Given the description of an element on the screen output the (x, y) to click on. 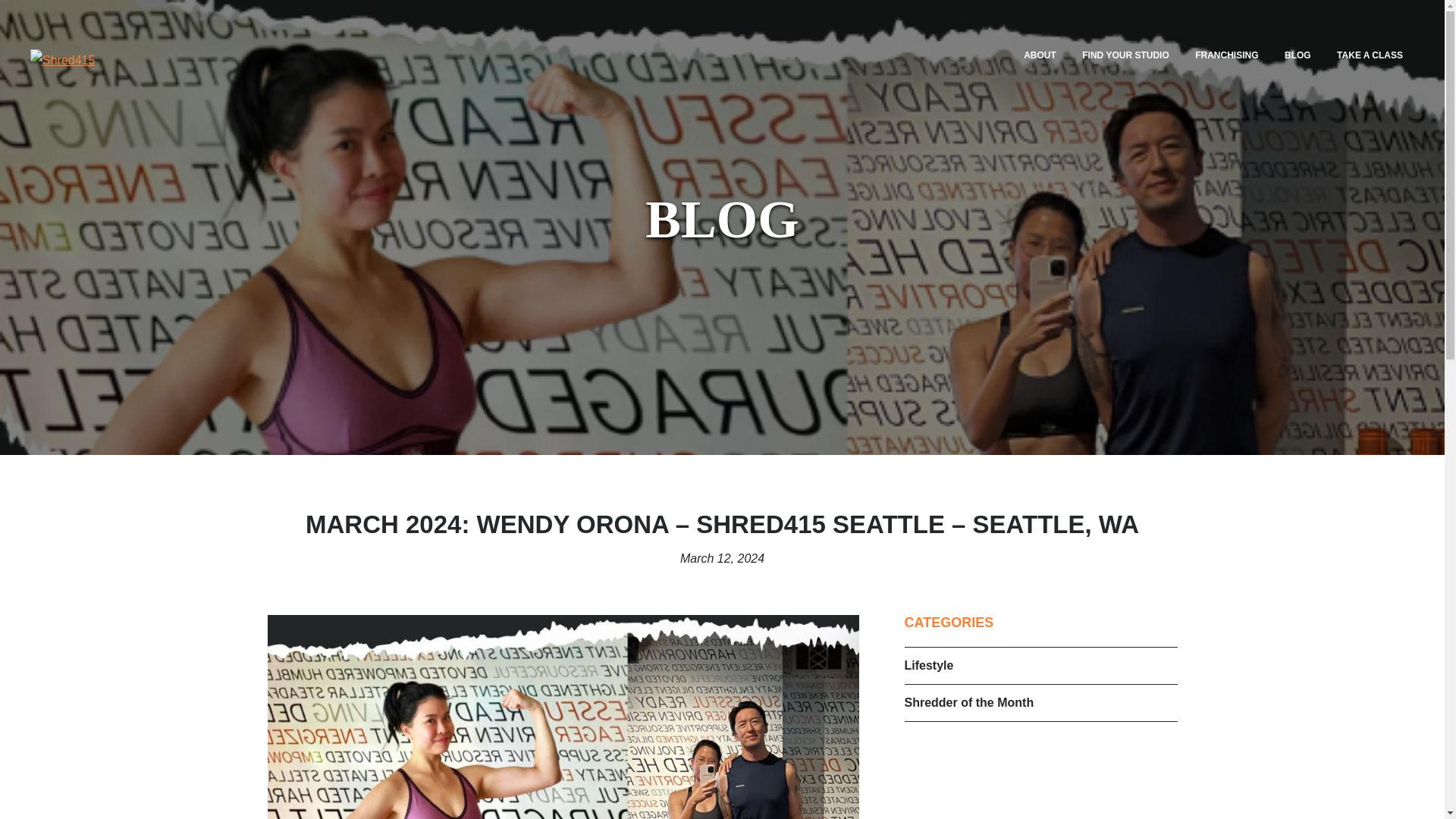
ABOUT (1039, 55)
FRANCHISING (1226, 55)
TAKE A CLASS (1368, 55)
Lifestyle (928, 665)
FIND YOUR STUDIO (1124, 55)
Shredder of the Month (968, 702)
BLOG (1297, 55)
